Given the description of an element on the screen output the (x, y) to click on. 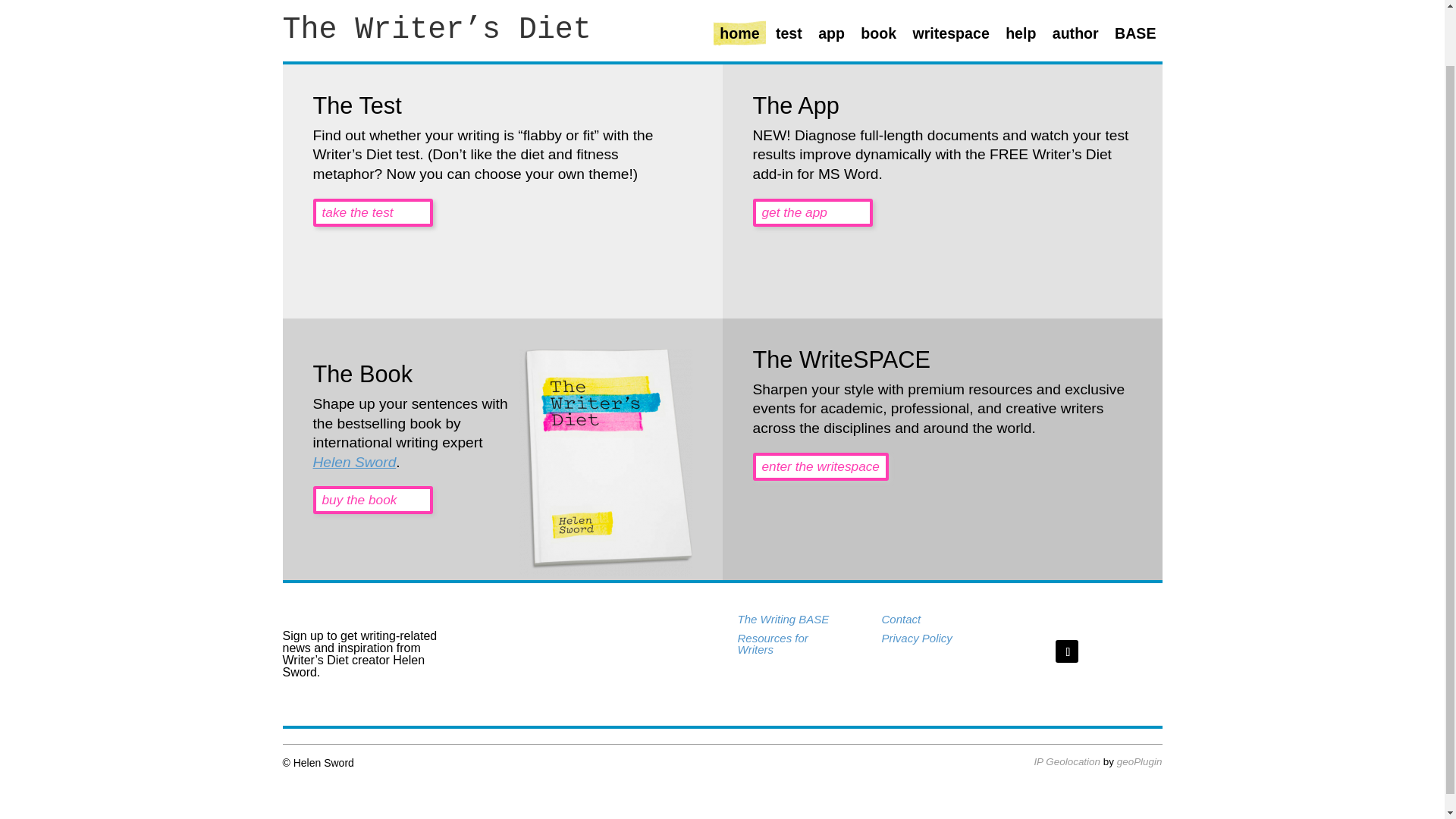
get the app (812, 212)
writespace (950, 39)
test (789, 39)
take the test (372, 212)
book (878, 39)
buy the book (372, 500)
Contact (900, 618)
help (1020, 39)
Helen Sword (354, 462)
geoPlugin (1138, 761)
Follow on X (1066, 650)
Resources for Writers (772, 643)
home (738, 39)
enter the writespace (820, 466)
Privacy Policy (916, 637)
